Given the description of an element on the screen output the (x, y) to click on. 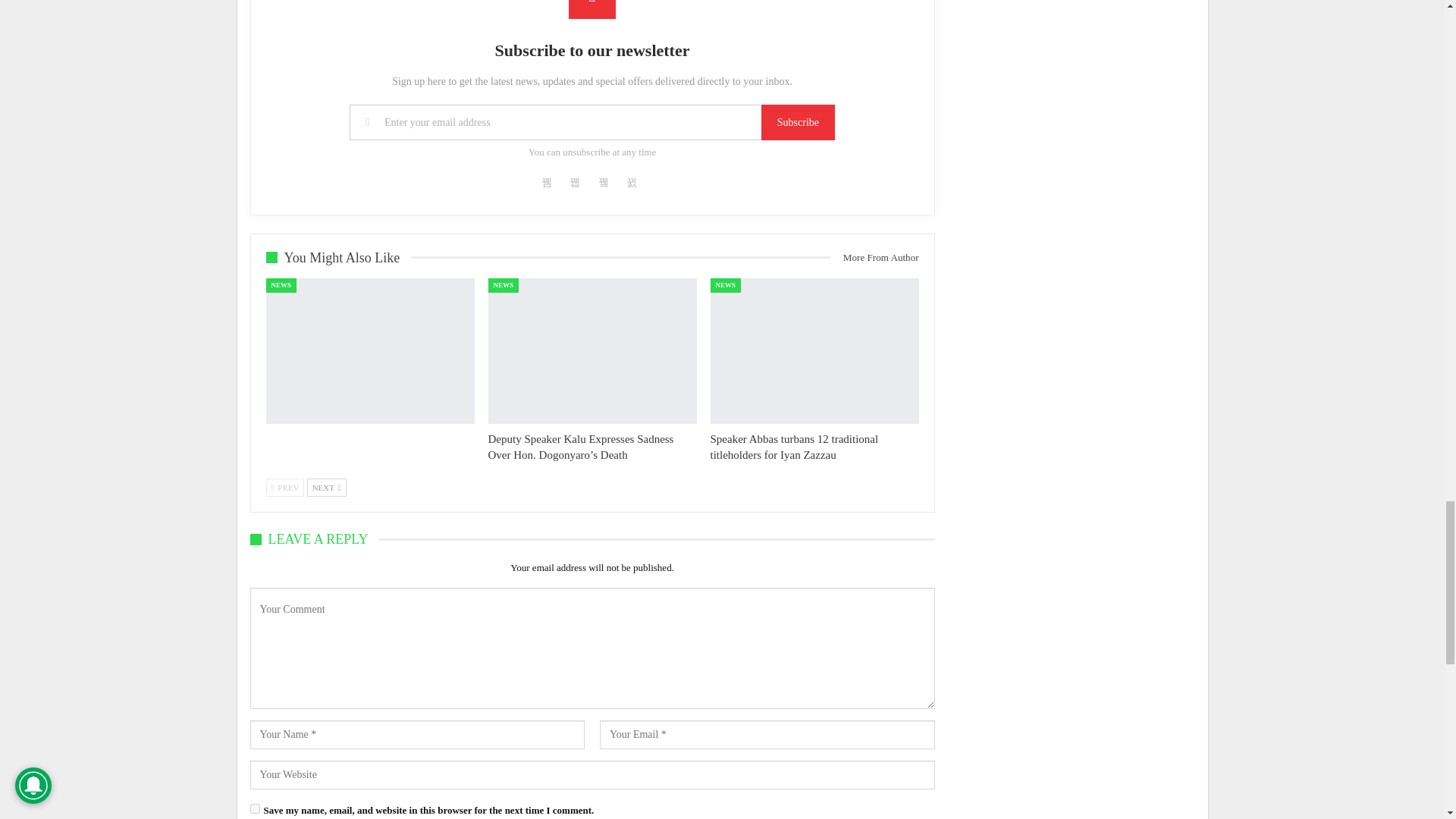
yes (255, 808)
